Given the description of an element on the screen output the (x, y) to click on. 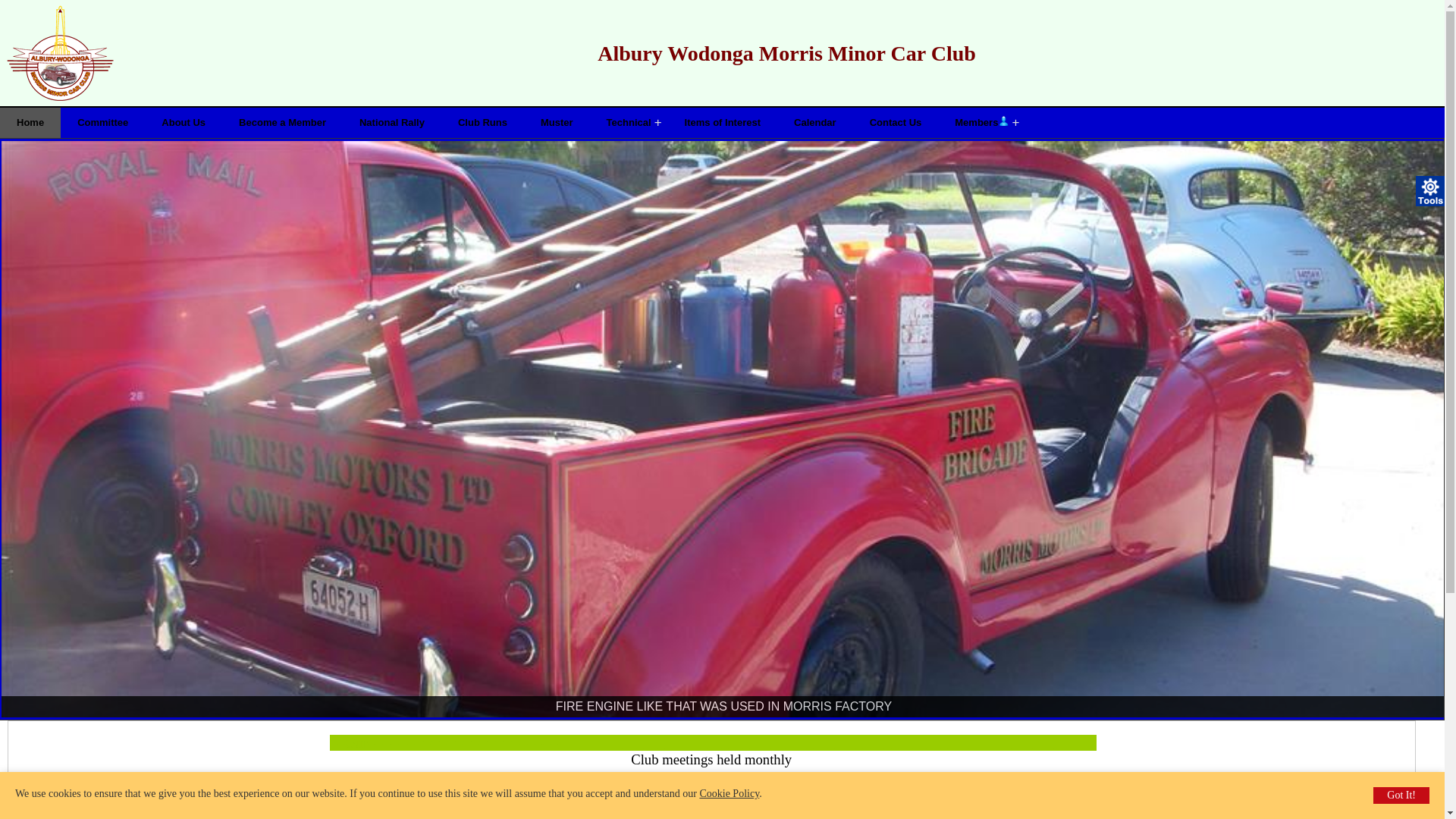
Club Runs Element type: text (482, 122)
Login Element type: hover (1002, 120)
About Us Element type: text (183, 122)
Items of Interest Element type: text (722, 122)
Tools Element type: text (1430, 190)
Cookie Policy Element type: text (729, 793)
Albury Wodonga Morris Minor Car Club Element type: text (722, 53)
Members Element type: text (981, 122)
Muster Element type: text (556, 122)
Home Element type: text (30, 122)
Logo Element type: hover (60, 53)
Committee Element type: text (102, 122)
Contact Us Element type: text (895, 122)
Become a Member Element type: text (282, 122)
National Rally Element type: text (391, 122)
Calendar Element type: text (815, 122)
Technical Element type: text (628, 122)
